Given the description of an element on the screen output the (x, y) to click on. 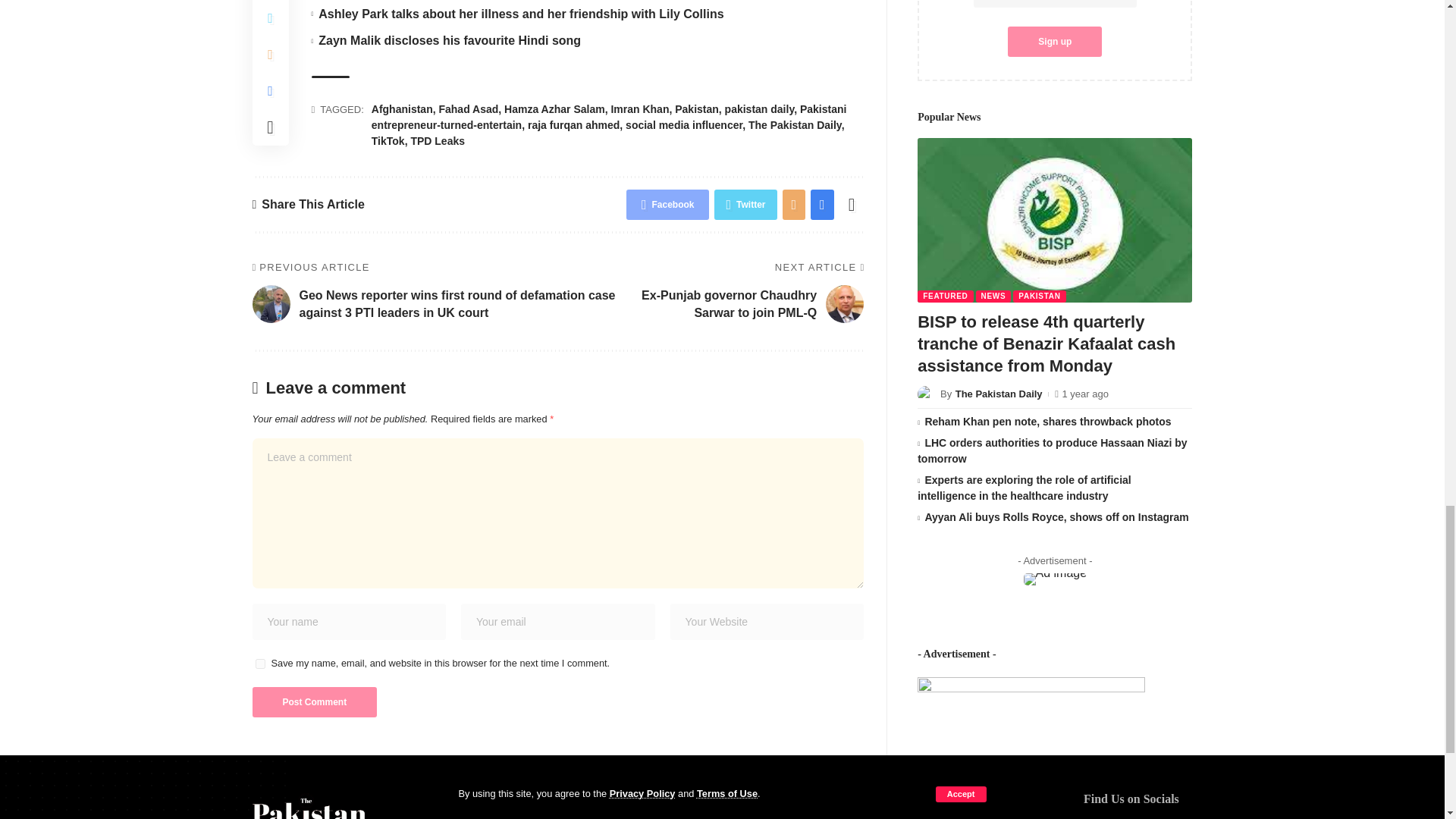
Post Comment (314, 702)
yes (259, 664)
